Given the description of an element on the screen output the (x, y) to click on. 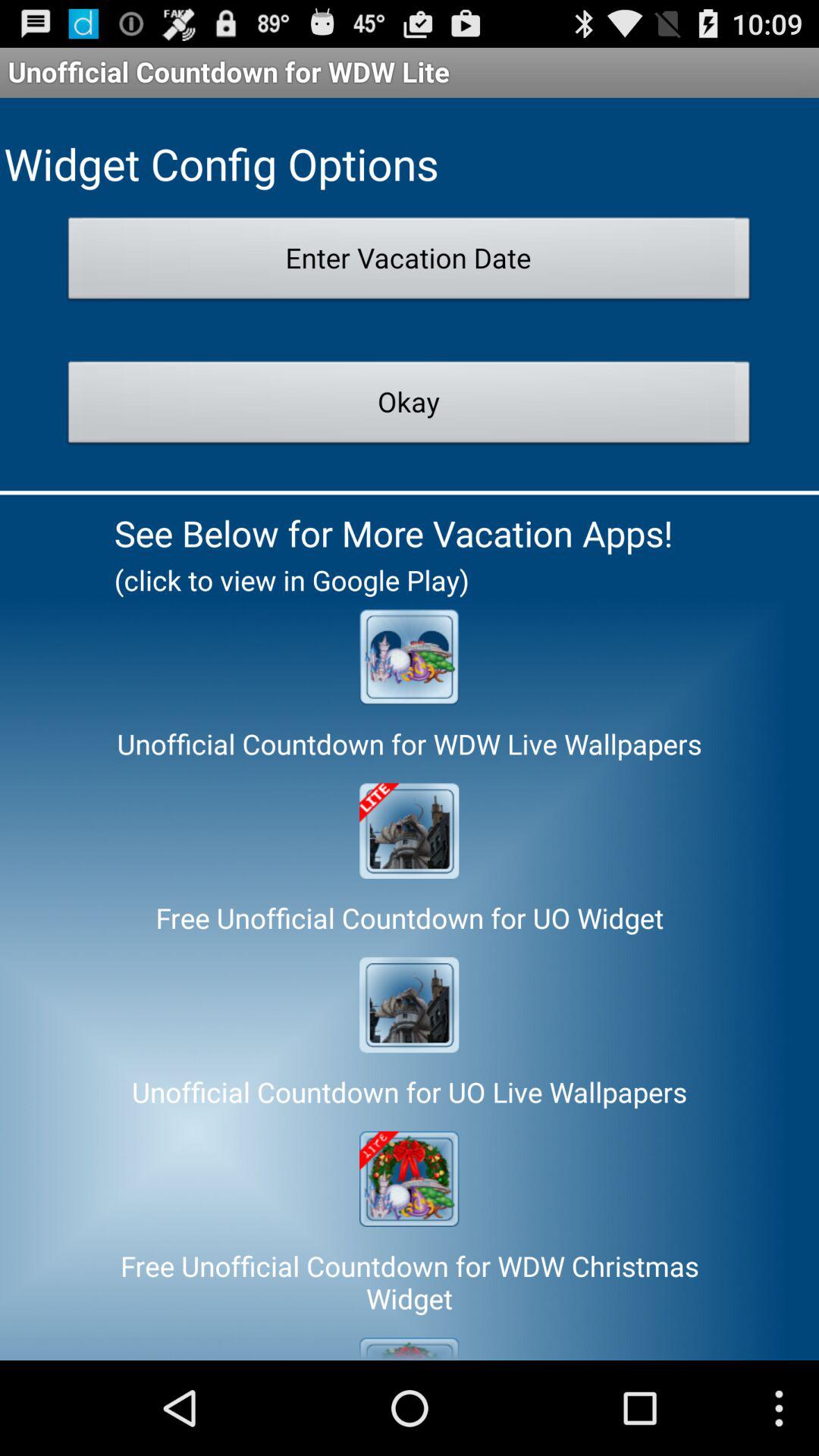
turn on the okay item (408, 406)
